Given the description of an element on the screen output the (x, y) to click on. 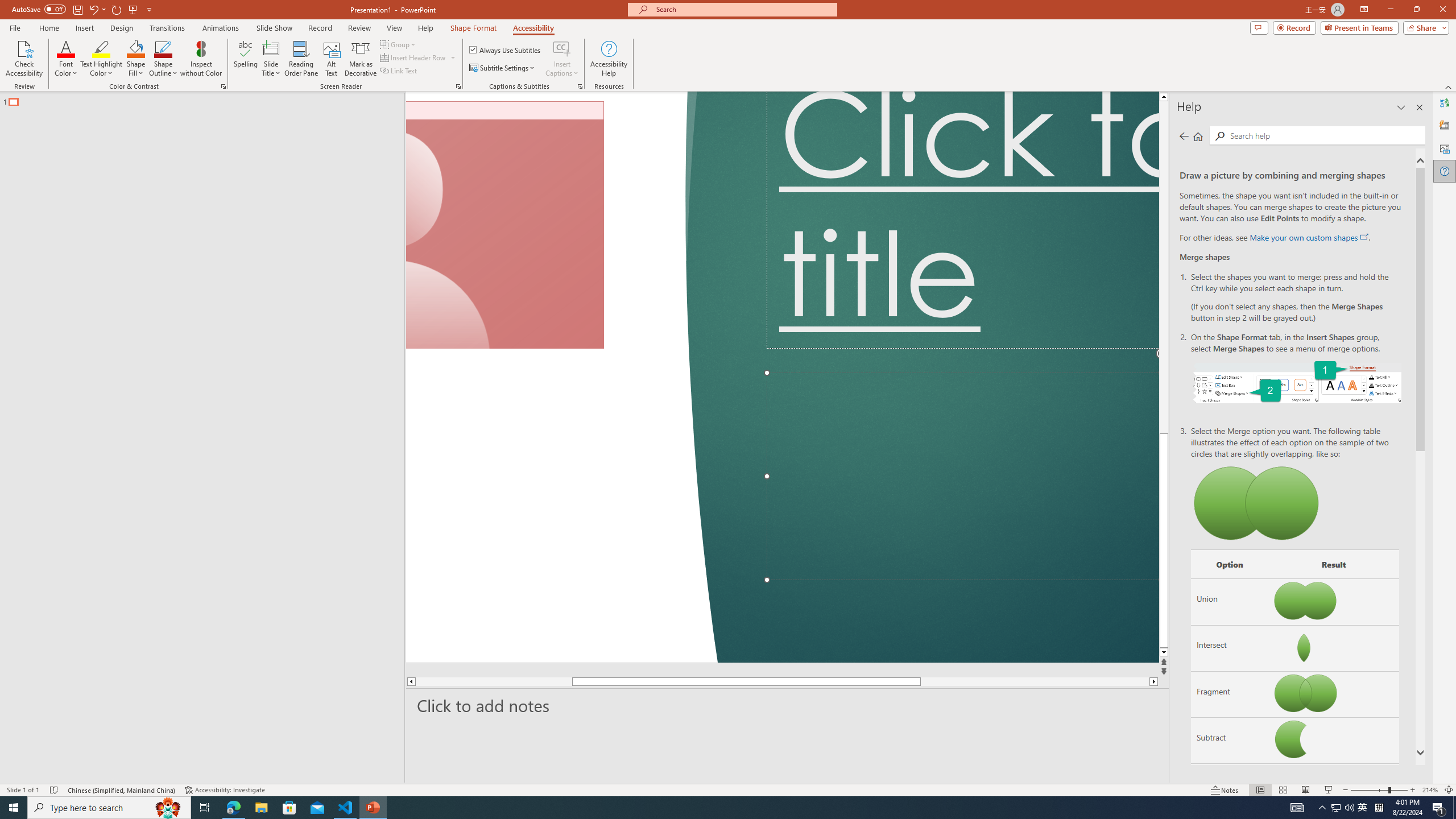
Color & Contrast (223, 85)
Always Use Subtitles (505, 49)
